Given the description of an element on the screen output the (x, y) to click on. 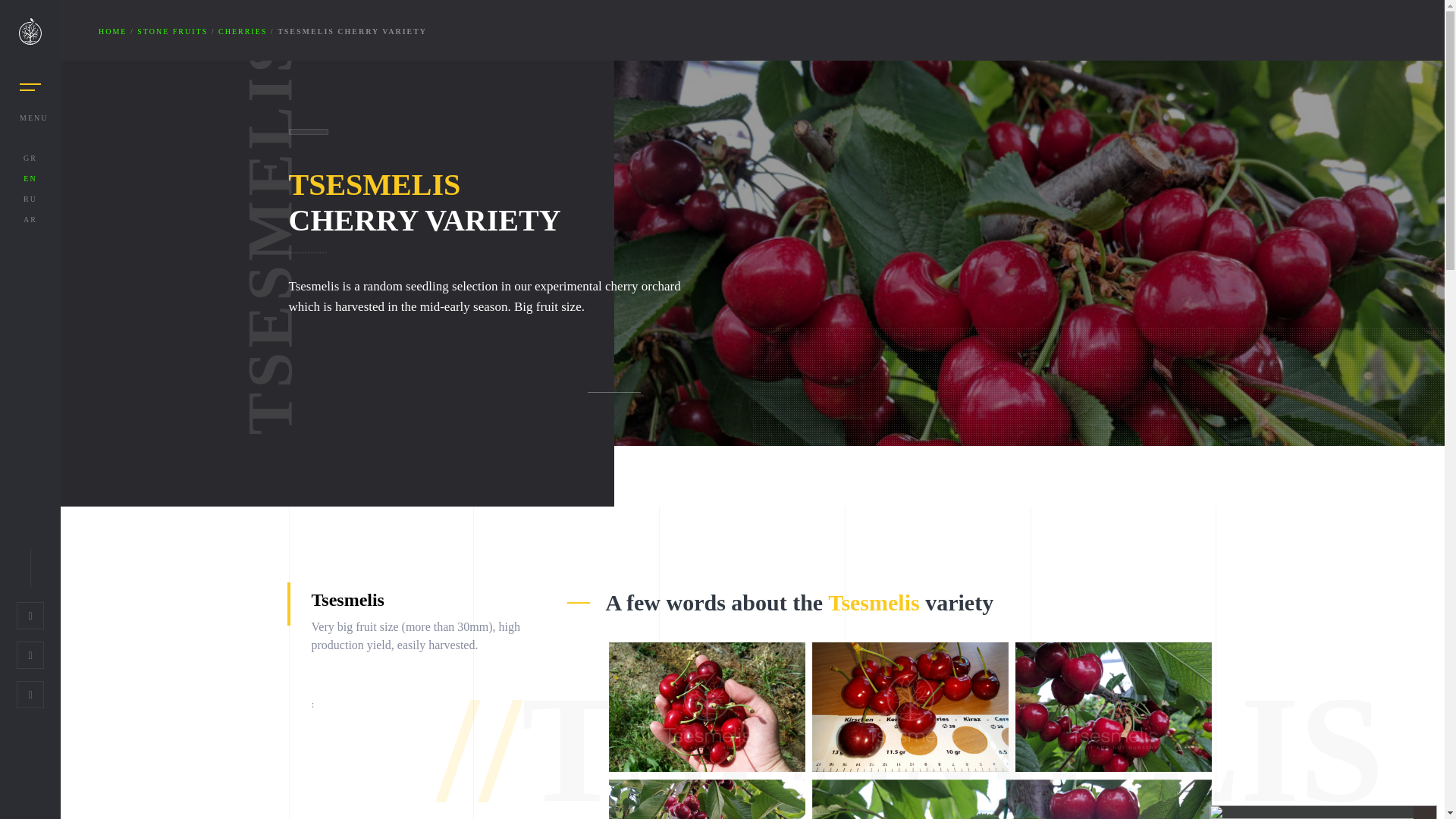
EN (29, 178)
AR (30, 219)
GR (30, 157)
RU (30, 198)
